Given the description of an element on the screen output the (x, y) to click on. 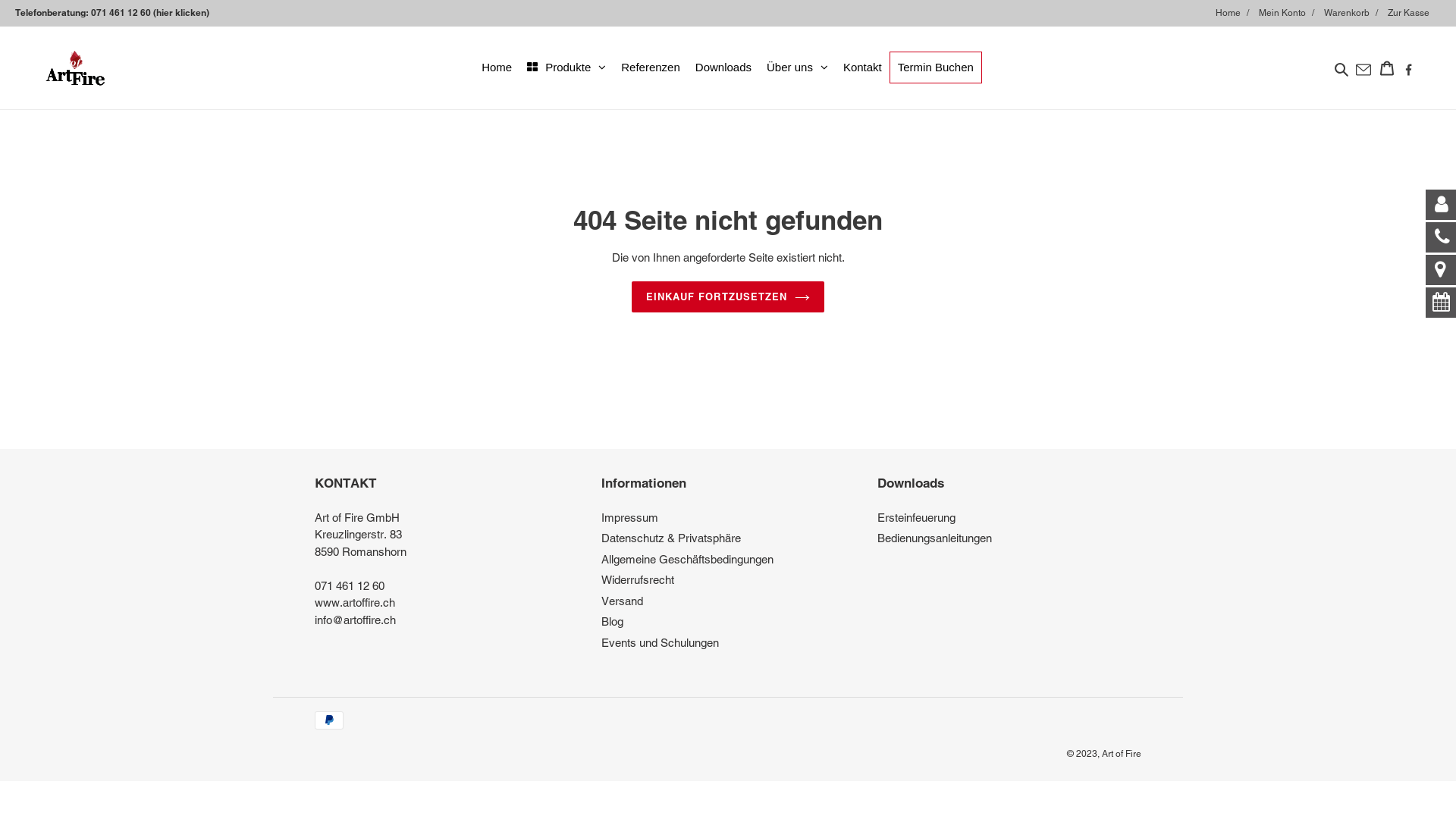
Zur Kasse Element type: text (1413, 12)
Termin Buchen Element type: text (935, 67)
Impressum Element type: text (629, 517)
Kontakt Element type: text (862, 67)
Home Element type: text (1235, 12)
Art of Fire Element type: text (1121, 753)
Widerrufsrecht Element type: text (637, 579)
Produkte Element type: text (566, 67)
Downloads Element type: text (723, 67)
Ersteinfeuerung Element type: text (916, 517)
Versand Element type: text (622, 600)
Events und Schulungen Element type: text (659, 642)
Warenkorb Element type: text (1354, 12)
Suchen Element type: text (1342, 68)
Mein Konto Element type: text (1289, 12)
info@artoffire.ch Element type: text (354, 619)
Bedienungsanleitungen Element type: text (934, 537)
EINKAUF FORTZUSETZEN Element type: text (727, 296)
www.artoffire.ch Element type: text (354, 602)
Referenzen Element type: text (650, 67)
071 461 12 60 Element type: text (349, 585)
Home Element type: text (496, 67)
Blog Element type: text (612, 621)
071 461 12 60 (hier klicken) Element type: text (150, 12)
Warenkorb Element type: text (1386, 67)
